Given the description of an element on the screen output the (x, y) to click on. 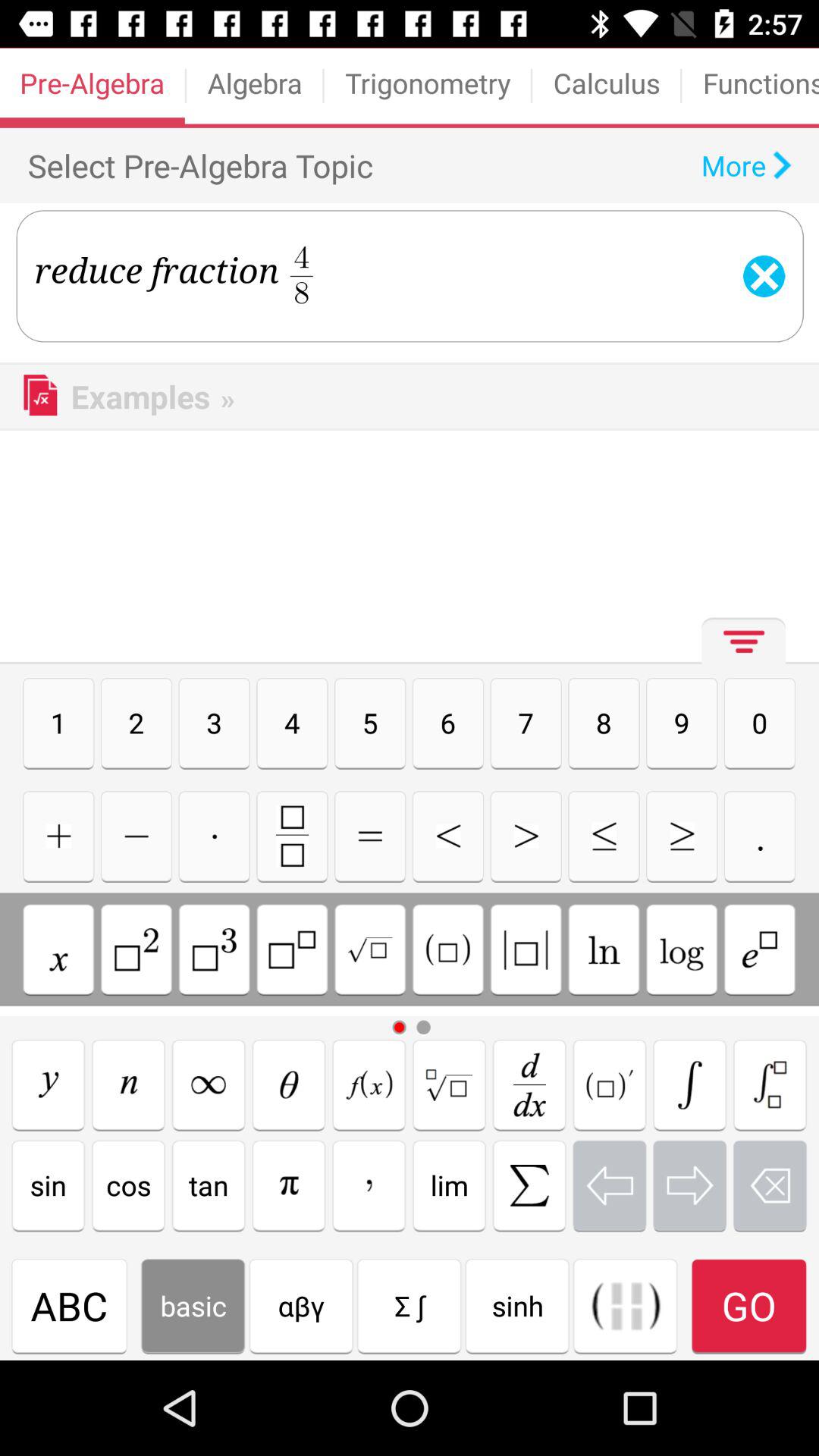
enter n (128, 1084)
